Given the description of an element on the screen output the (x, y) to click on. 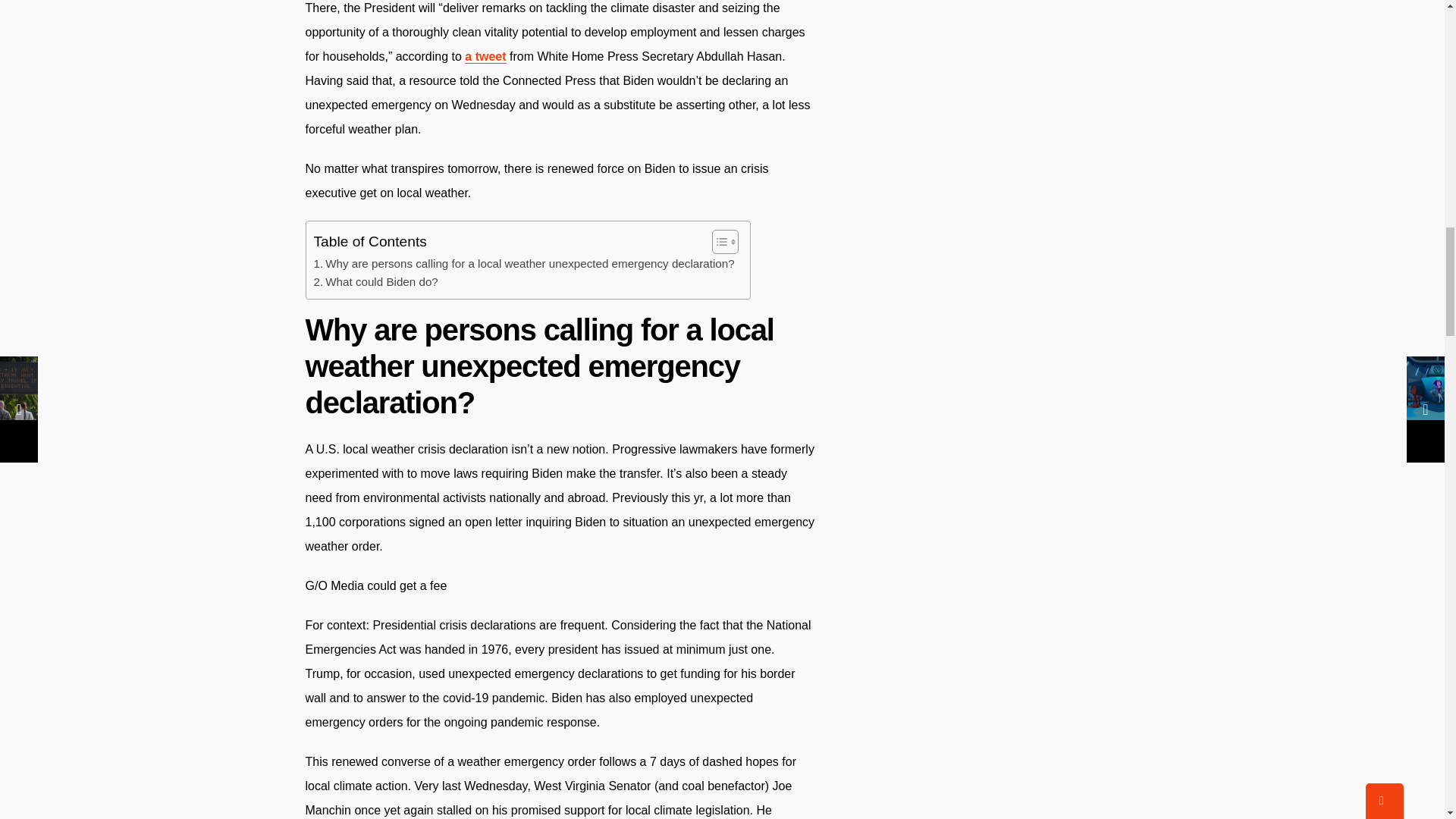
What could Biden do? (376, 281)
a tweet (484, 56)
What could Biden do? (376, 281)
